Given the description of an element on the screen output the (x, y) to click on. 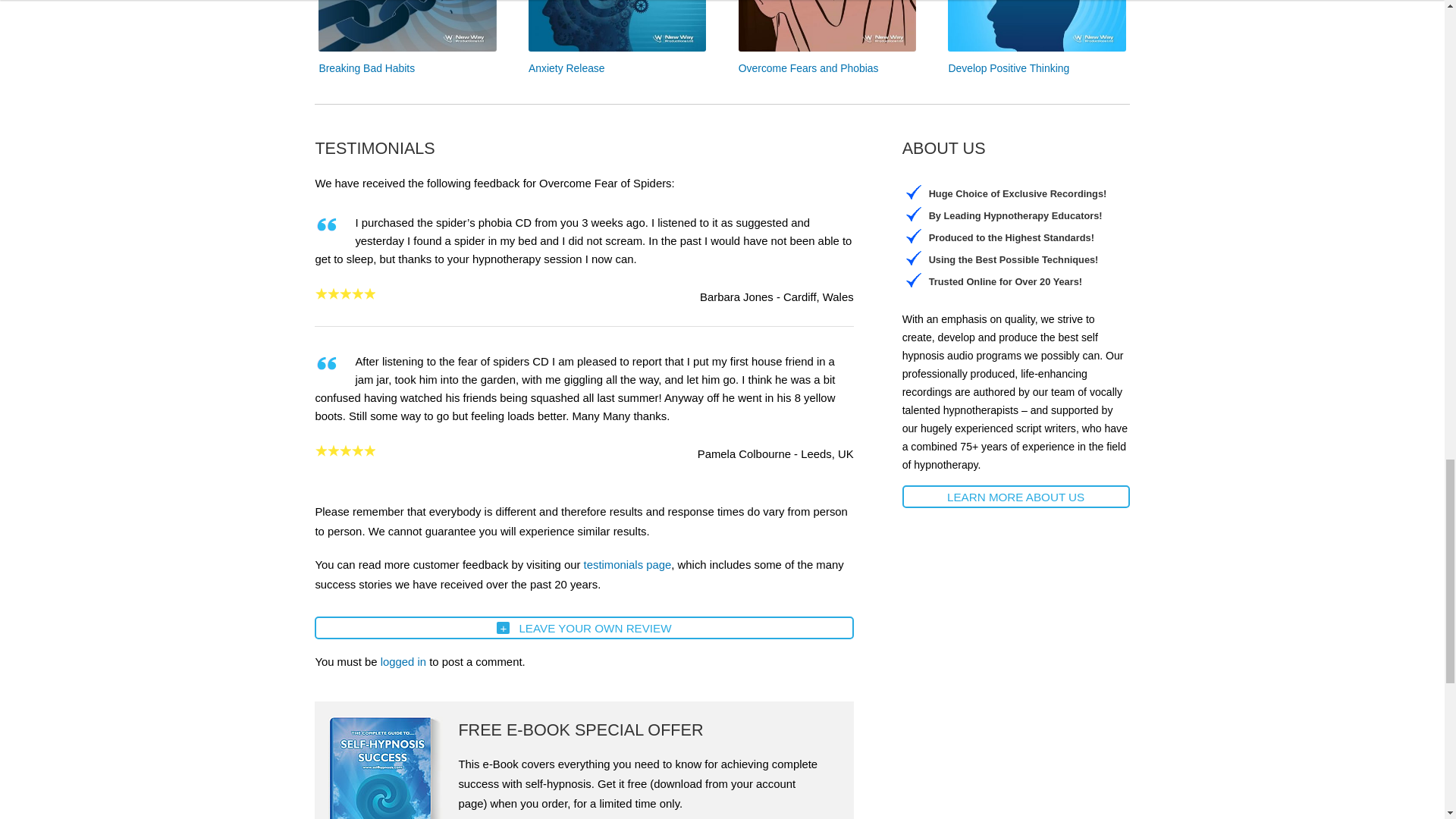
Rated 5 out of 5 (344, 293)
Rated 5 out of 5 (344, 450)
